Given the description of an element on the screen output the (x, y) to click on. 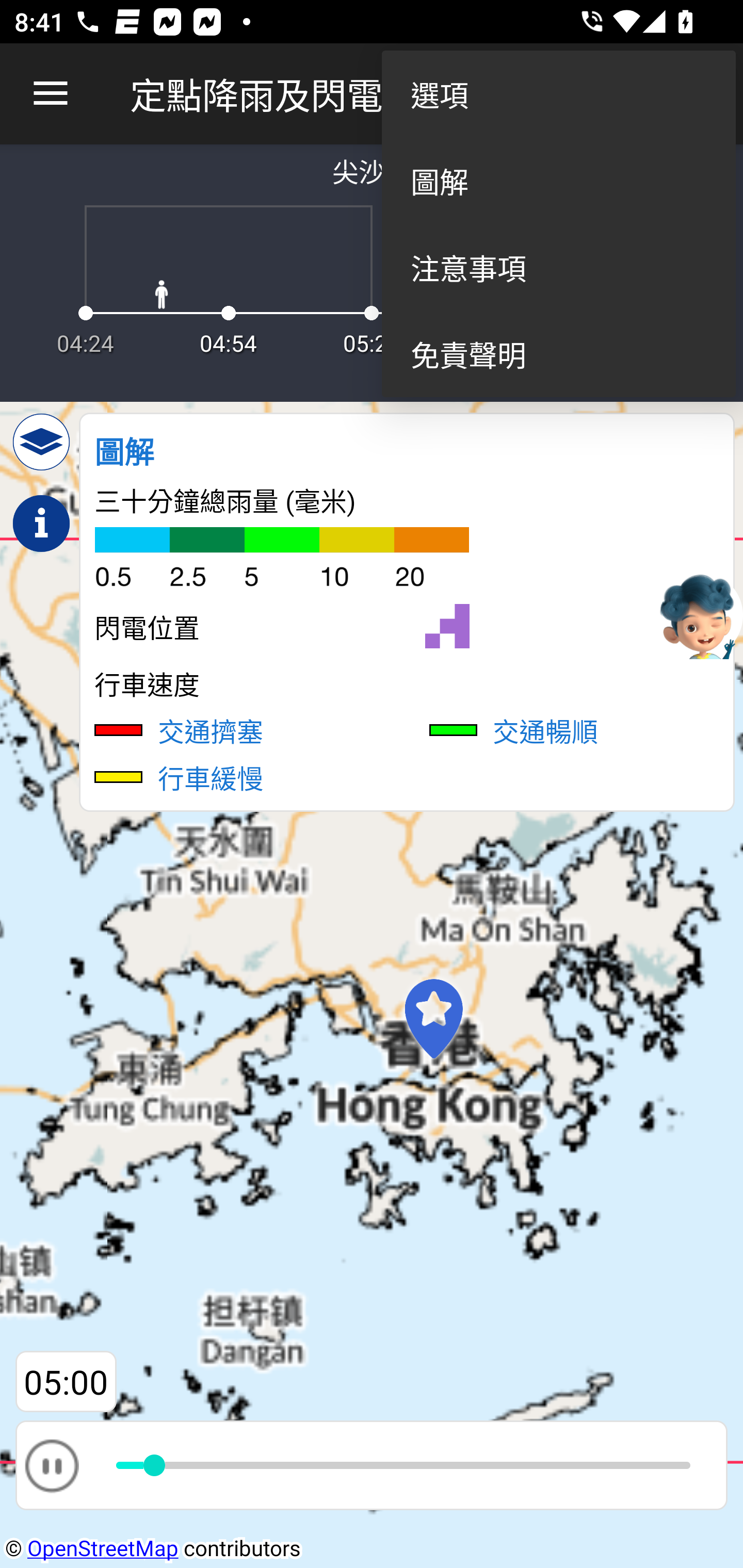
選項 (558, 93)
圖解 (558, 180)
注意事項 (558, 267)
免責聲明 (558, 353)
